Given the description of an element on the screen output the (x, y) to click on. 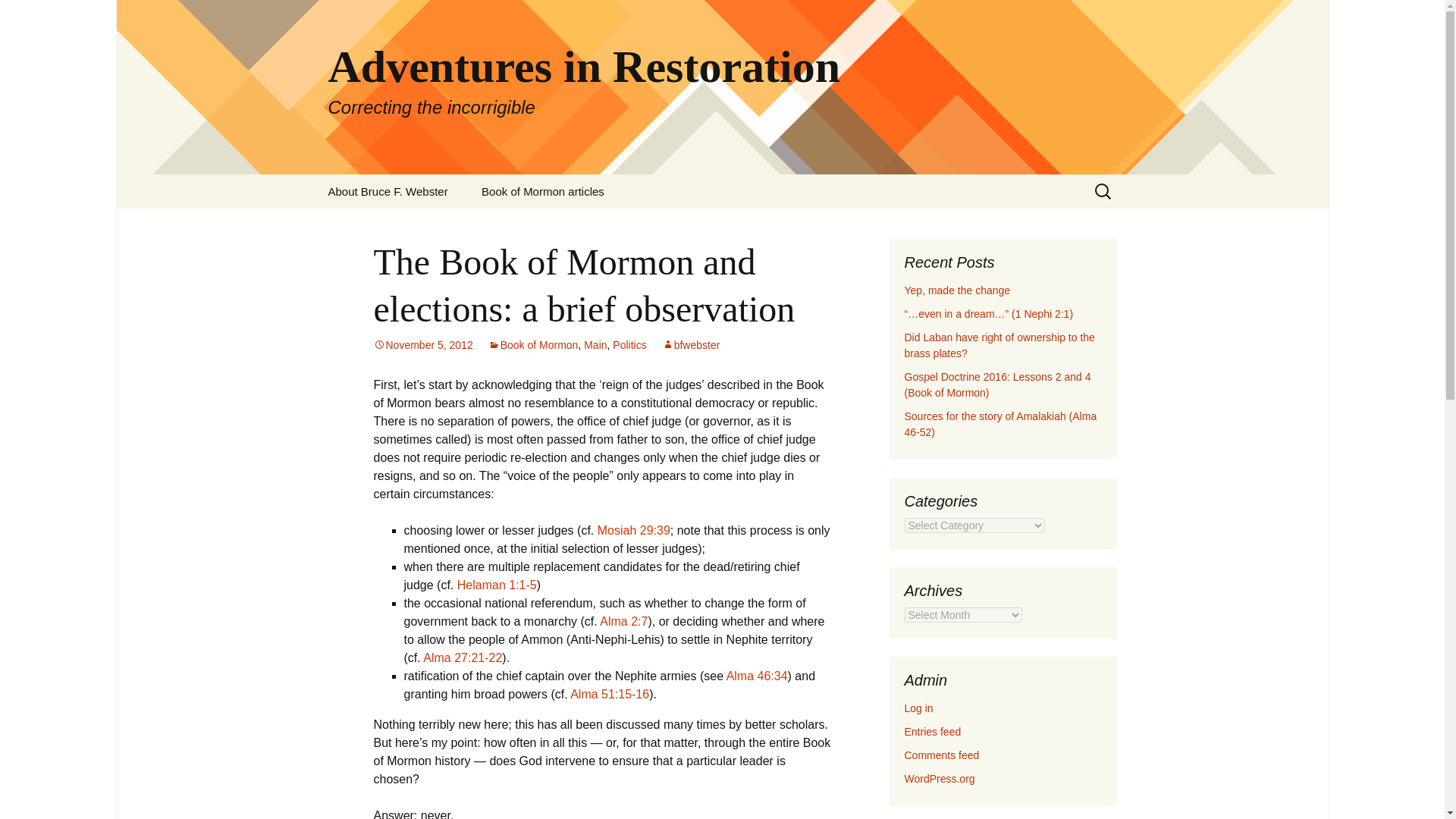
Alma 51:15-16 (609, 694)
Book of Mormon (532, 345)
Helaman 1:1-5 (632, 530)
Search (497, 584)
Entries feed (18, 15)
Did Laban have right of ownership to the brass plates? (932, 731)
Alma 46:34 (999, 345)
Yep, made the change (756, 675)
WordPress.org (957, 290)
Alma 27:21-22 (939, 778)
Book of Mormon articles (462, 657)
Log in (542, 191)
